Given the description of an element on the screen output the (x, y) to click on. 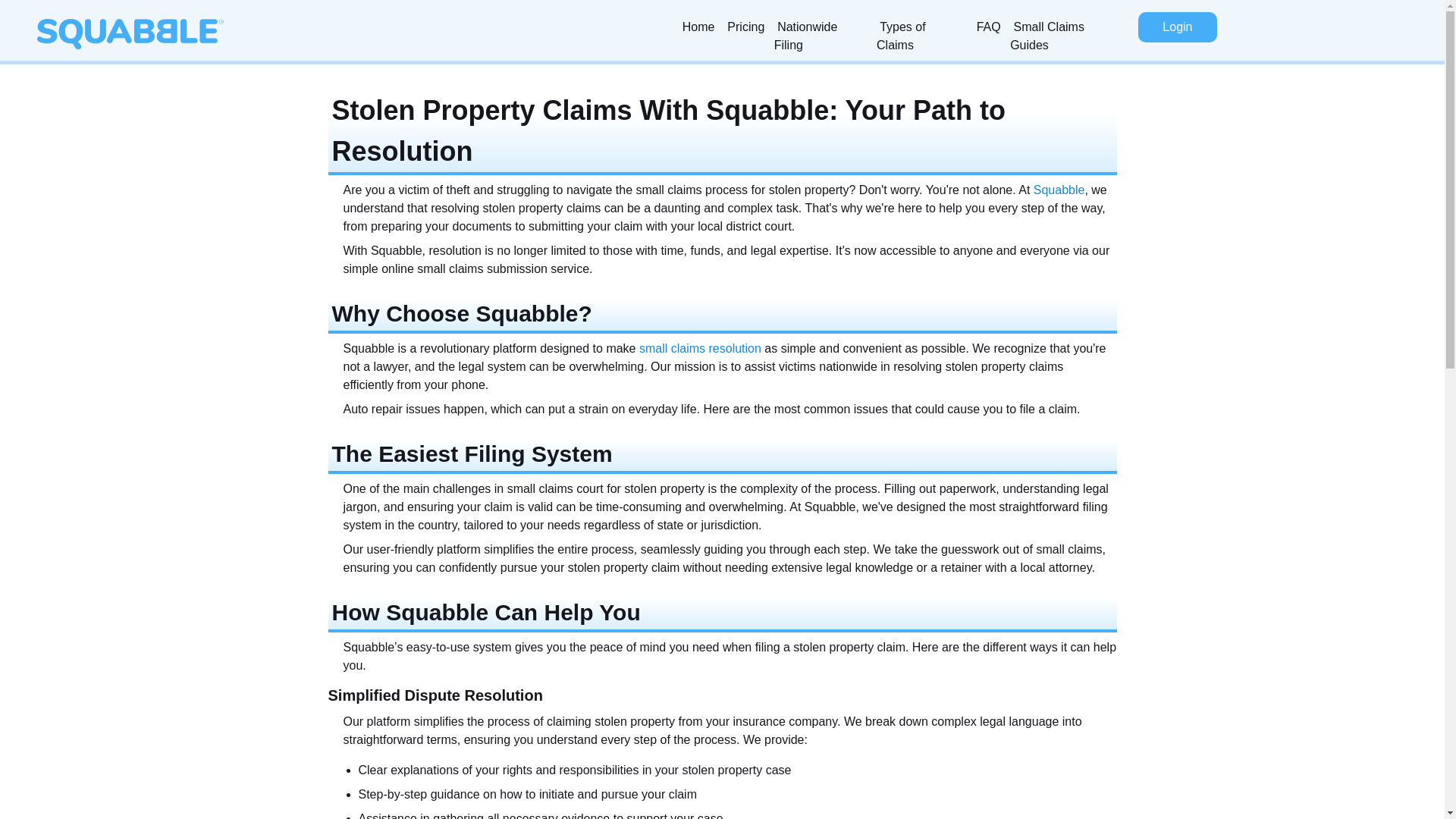
 Small Claims Guides  (1067, 36)
 Home  (697, 27)
 Pricing  (745, 27)
small claims resolution (700, 348)
 Types of Claims  (921, 36)
 FAQ  (988, 27)
 Nationwide Filing  (822, 36)
Login (1176, 27)
Squabble (1058, 189)
